Given the description of an element on the screen output the (x, y) to click on. 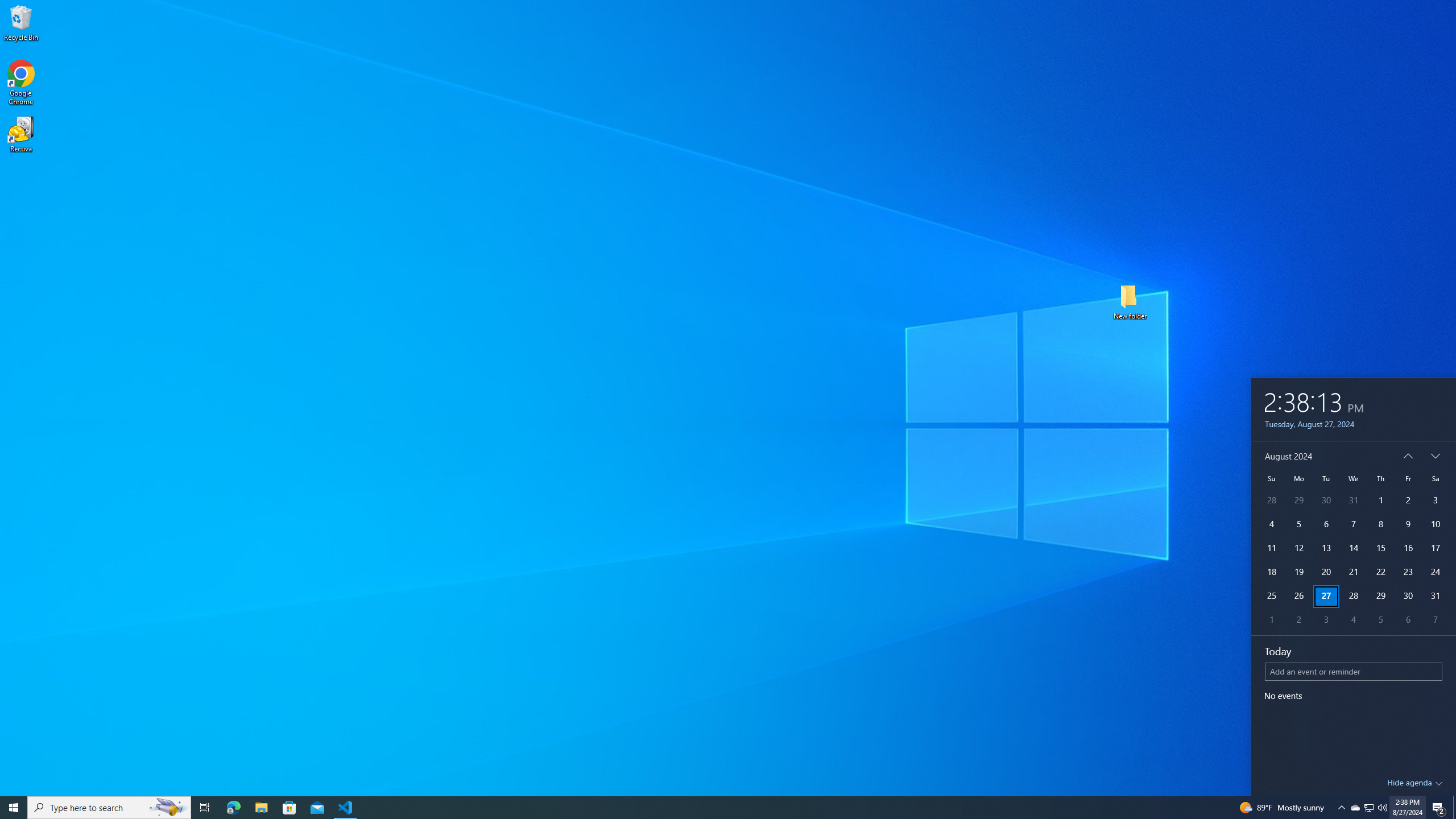
Previous (1407, 455)
15 (1380, 548)
Hide agenda (1414, 782)
Type here to search (108, 807)
User Promoted Notification Area (1368, 807)
14 (1353, 548)
Action Center, 2 new notifications (1439, 807)
AutomationID: ClockCalendar (1352, 538)
5 (1380, 620)
Microsoft Edge (233, 807)
6 (1407, 620)
11 (1270, 548)
2 (1298, 620)
